Given the description of an element on the screen output the (x, y) to click on. 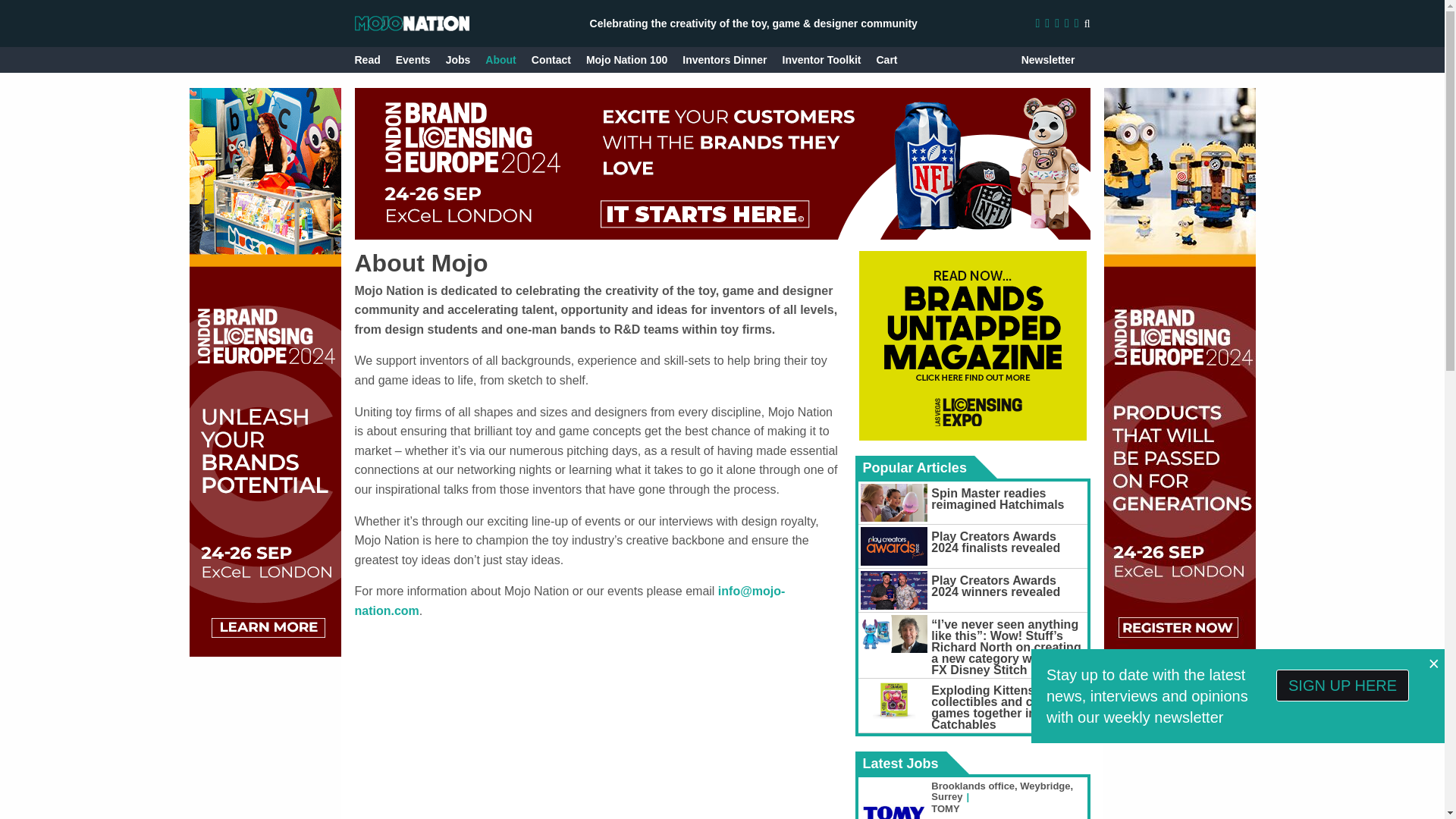
Mojo Nation (411, 22)
Newsletter (1048, 59)
Contact (550, 59)
Mojo Nation 100 (626, 59)
Go (1072, 59)
Inventor Toolkit (822, 59)
Events (413, 59)
Read (367, 59)
Jobs (457, 59)
About (499, 59)
Inventors Dinner (724, 59)
